Given the description of an element on the screen output the (x, y) to click on. 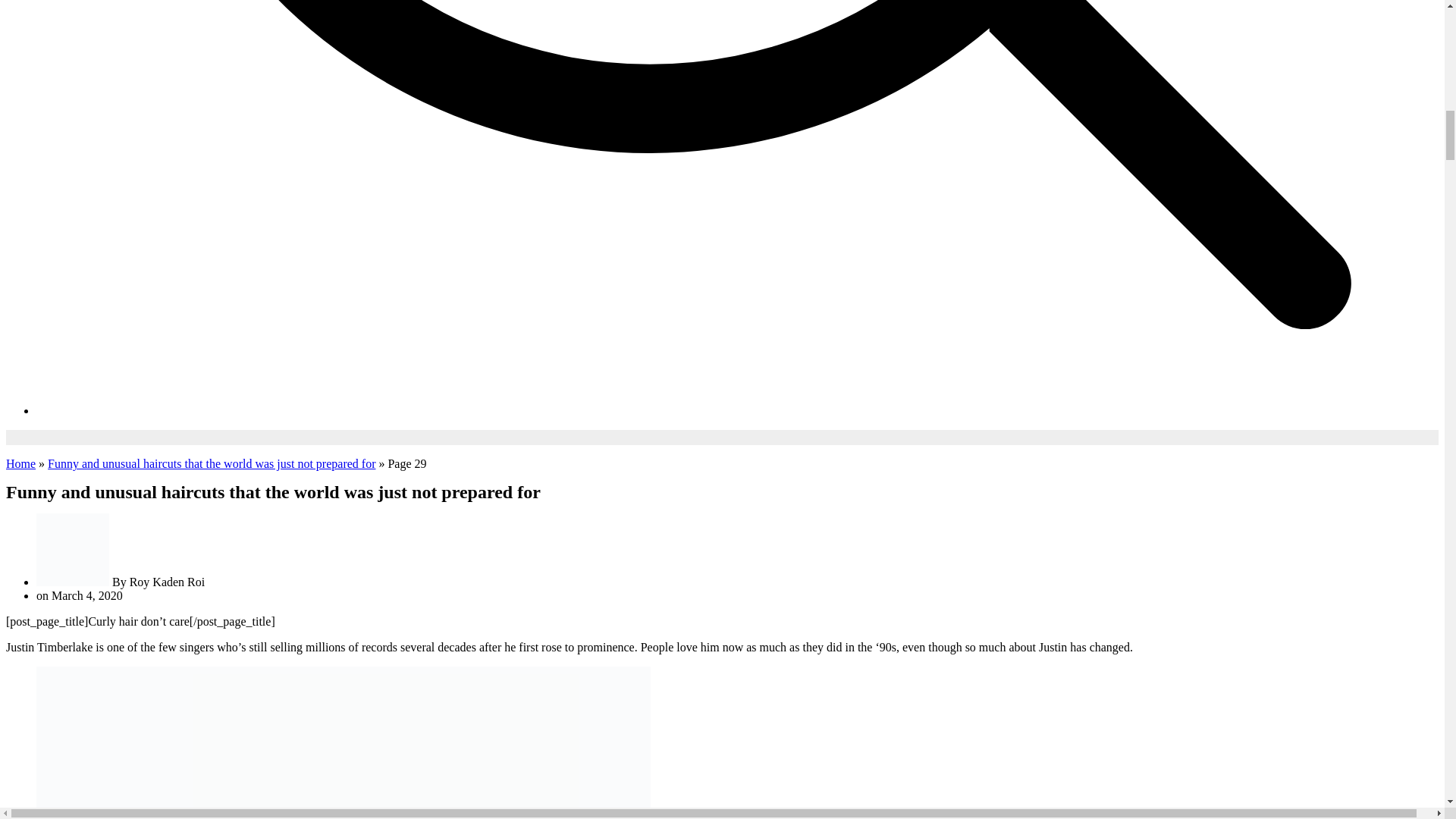
Home (19, 463)
